Given the description of an element on the screen output the (x, y) to click on. 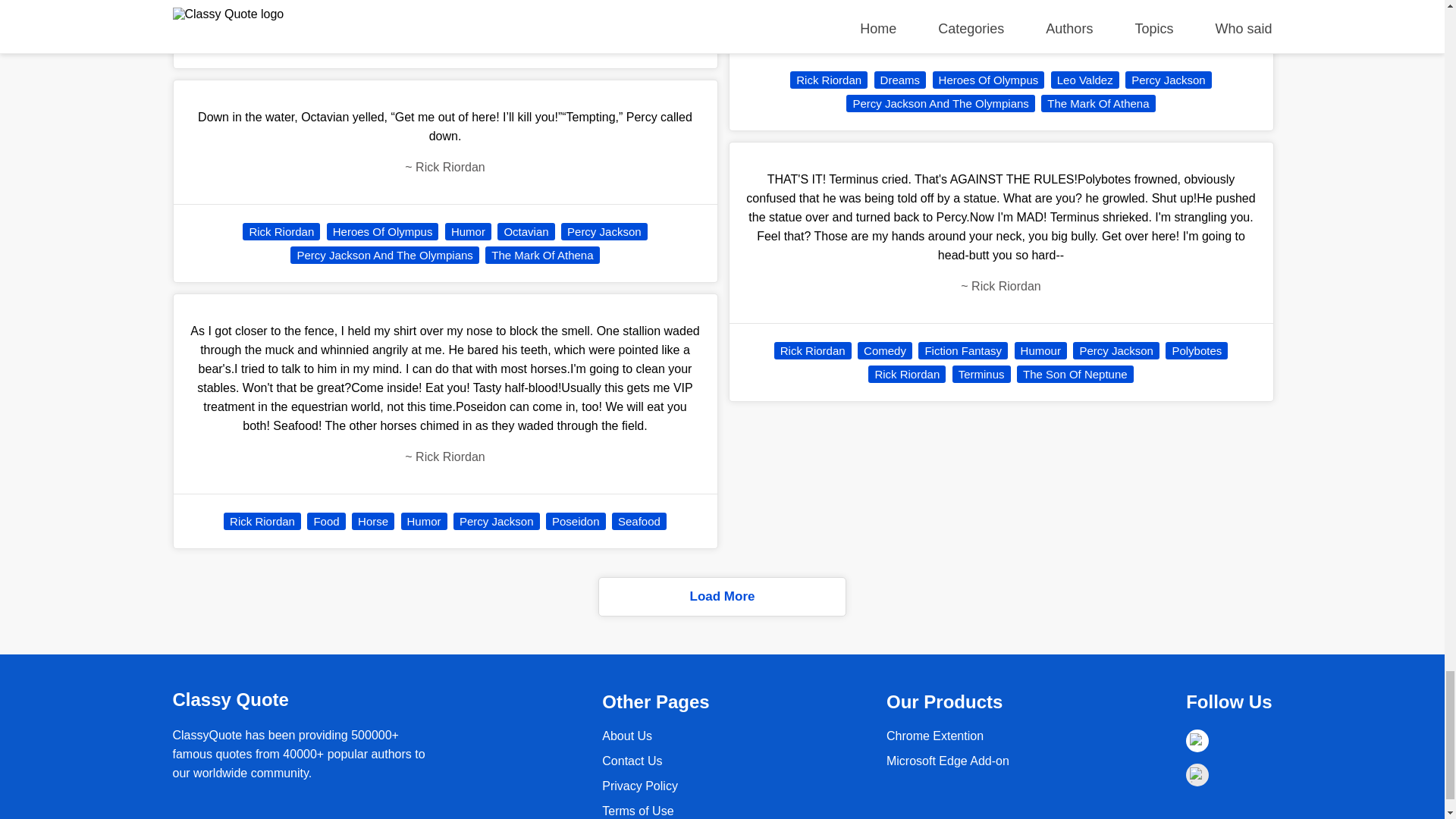
Chrome Extention (935, 735)
Instagram coming soon (1197, 774)
Chrome Extention (947, 760)
Facebook (1197, 740)
